Given the description of an element on the screen output the (x, y) to click on. 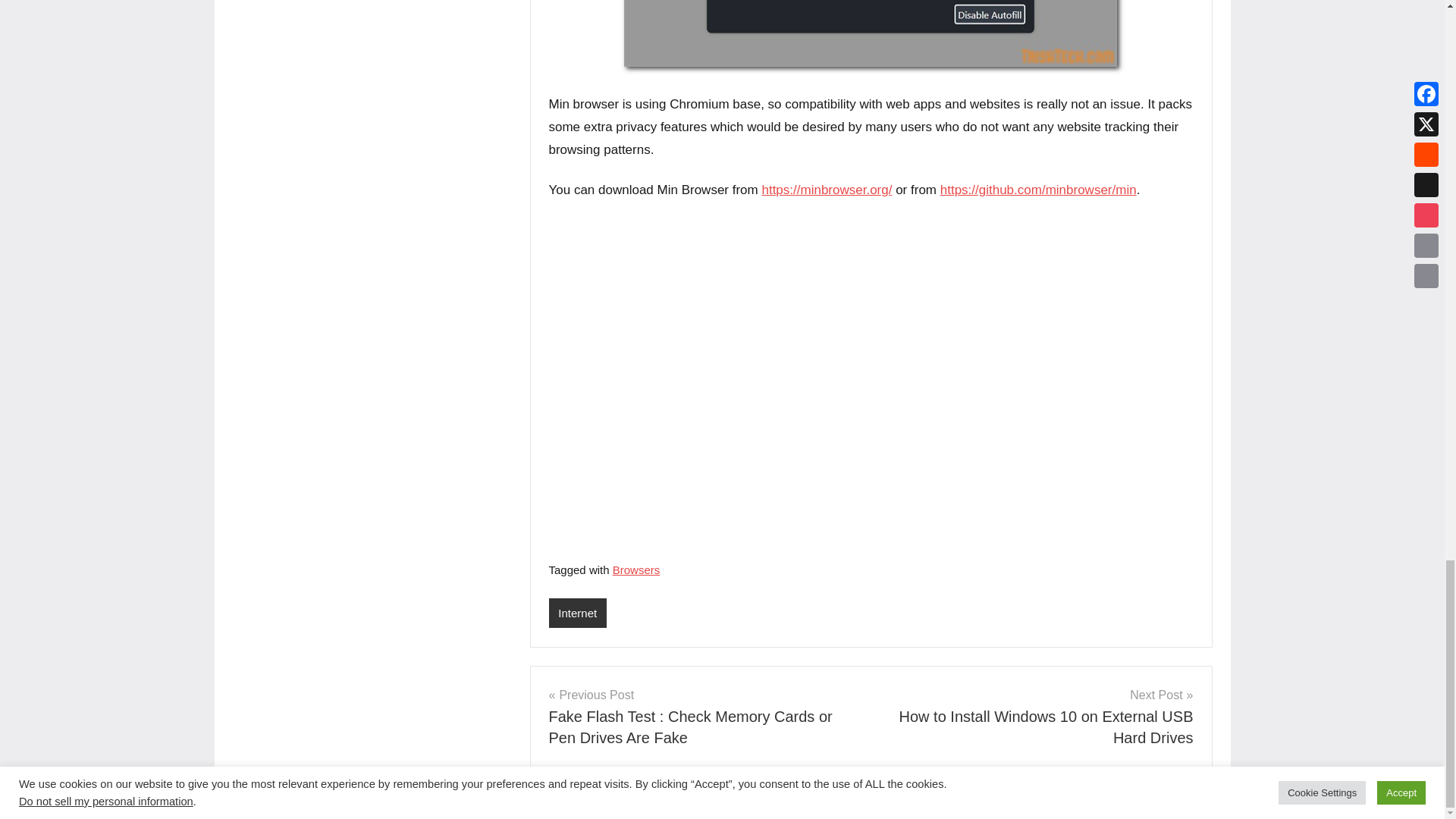
Internet (577, 613)
TrishTech.com (386, 801)
Privacy Policy (576, 801)
Contact Us (649, 801)
Browsers (636, 569)
Terms of Use (720, 801)
